Given the description of an element on the screen output the (x, y) to click on. 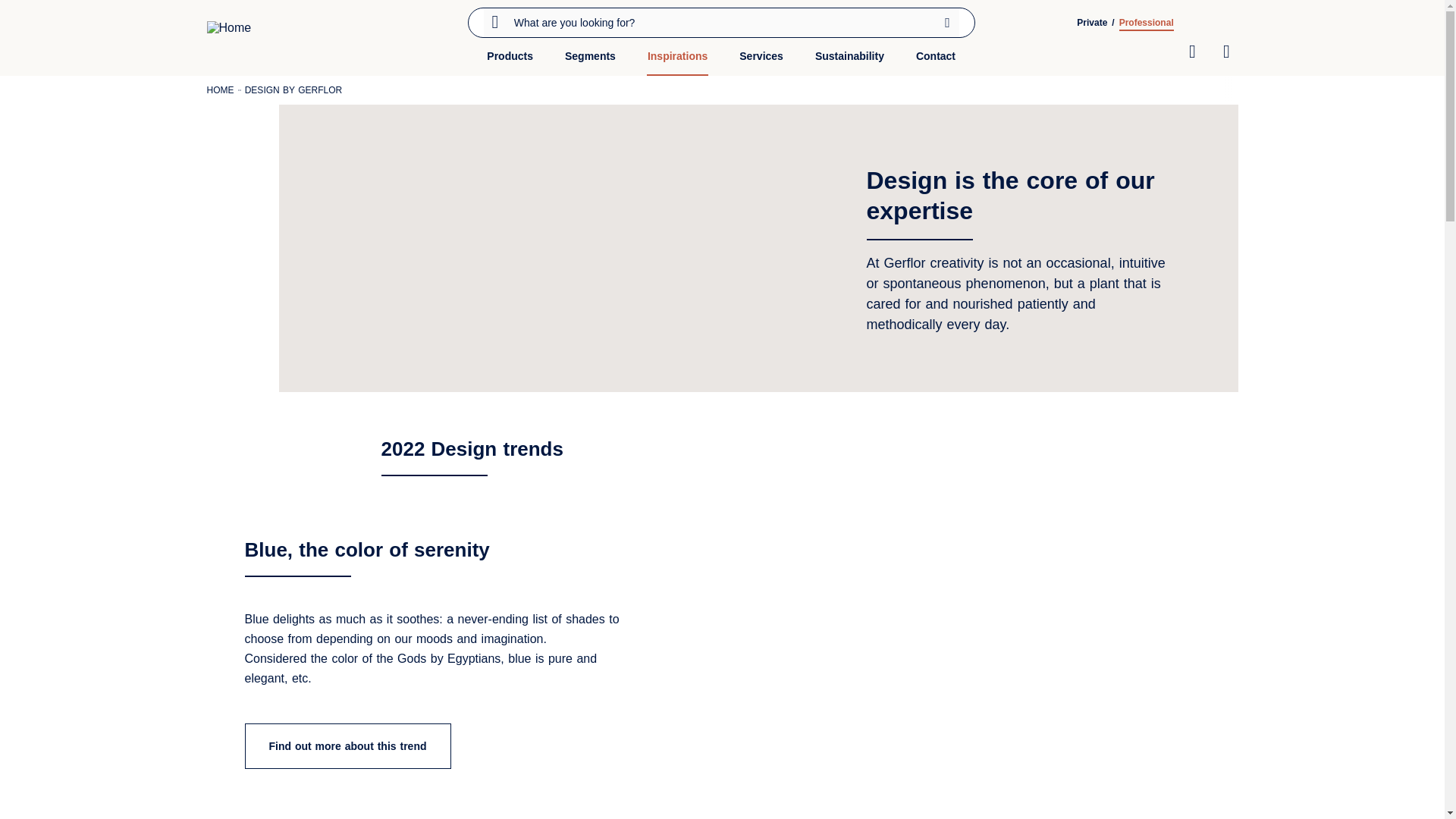
Search (947, 22)
Private (1091, 22)
Segments (589, 62)
Gerflor the floor in group (263, 38)
Inspirations (676, 62)
Professional (1146, 22)
Search (947, 22)
Services (761, 62)
Products (510, 62)
Search (947, 22)
